Given the description of an element on the screen output the (x, y) to click on. 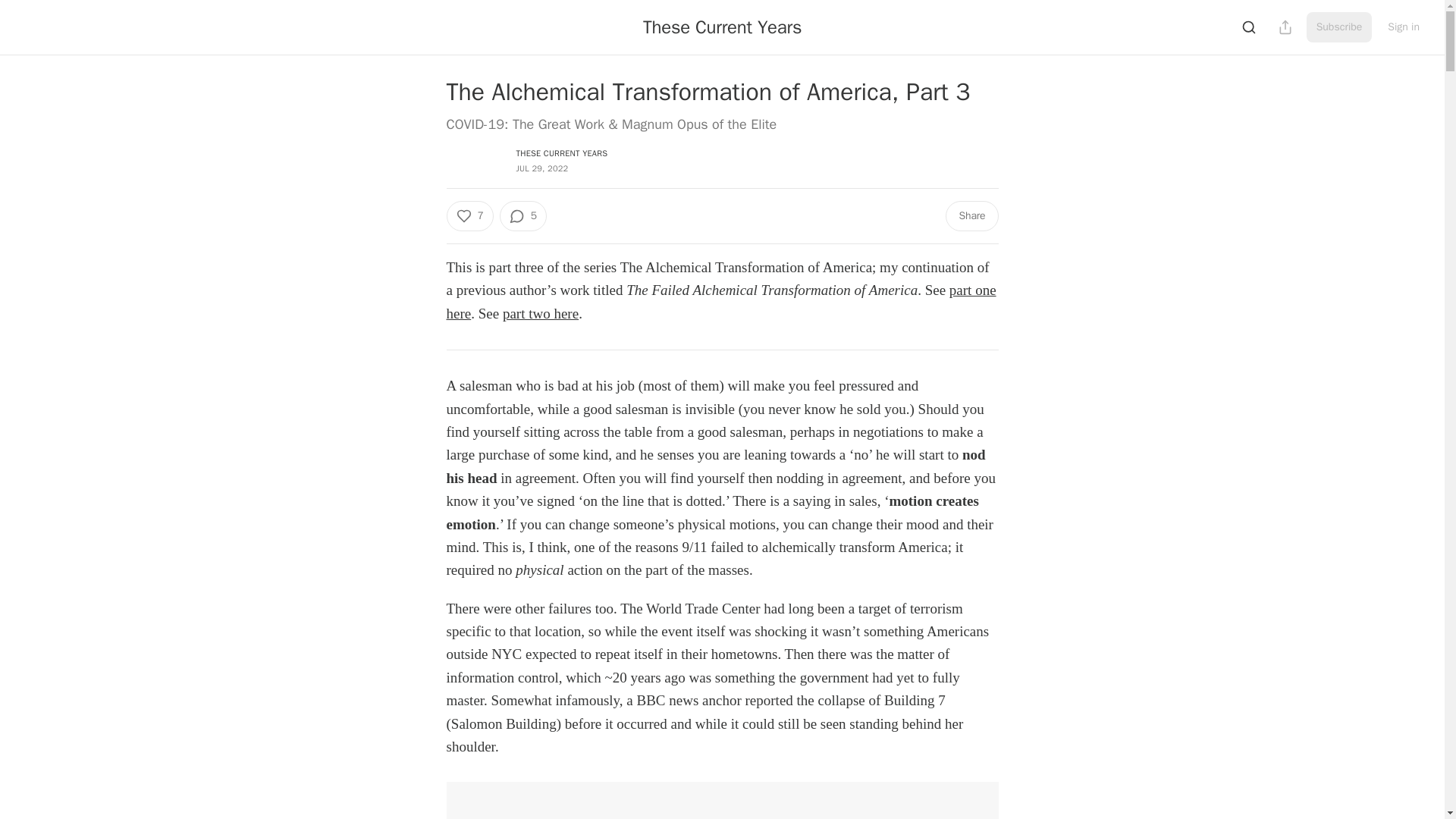
Sign in (1403, 27)
Subscribe (1339, 27)
Share (970, 215)
part two here (540, 313)
These Current Years (722, 26)
THESE CURRENT YEARS (561, 153)
7 (469, 215)
5 (523, 215)
part one here (720, 301)
